Given the description of an element on the screen output the (x, y) to click on. 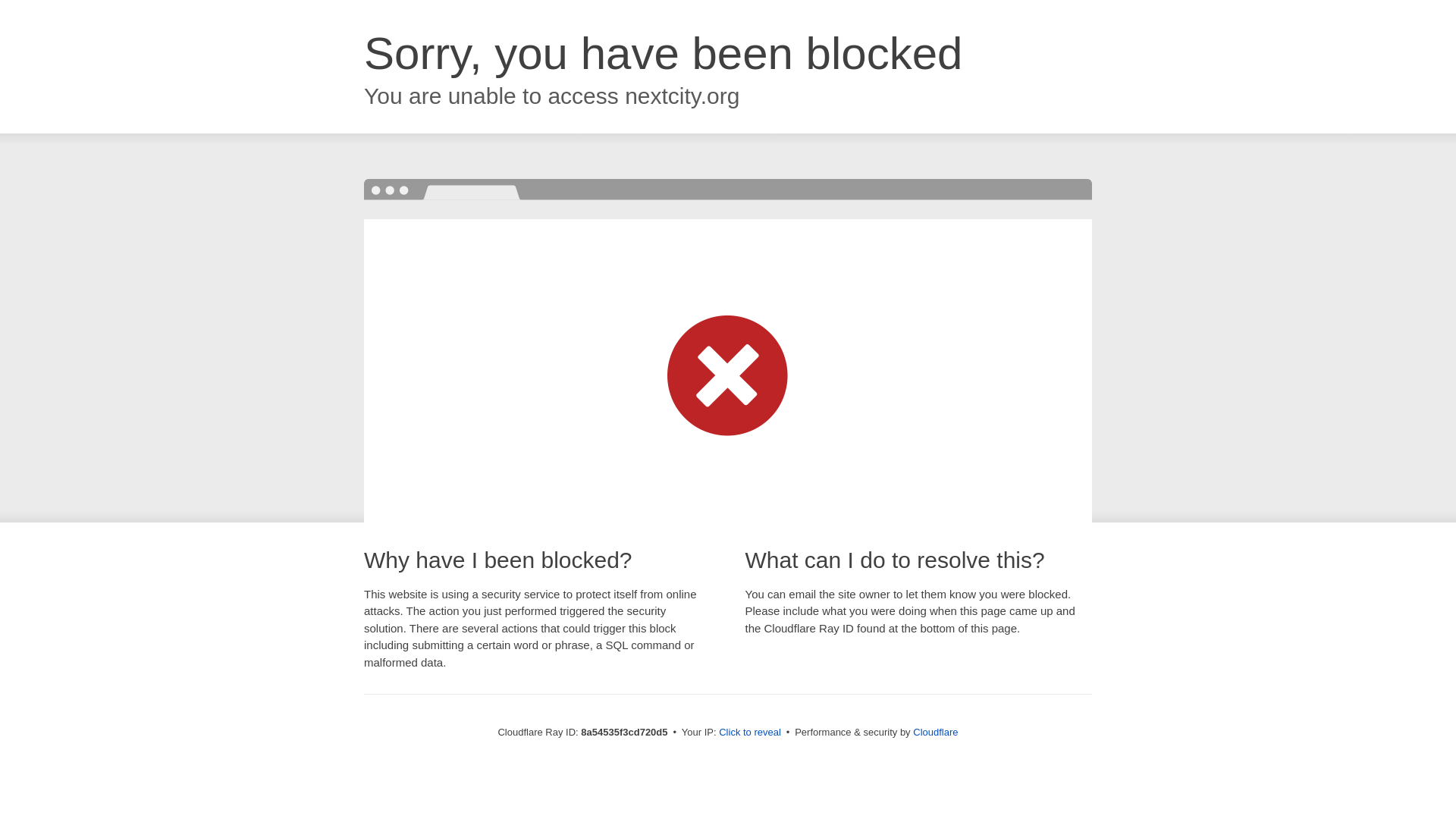
Click to reveal (749, 732)
Cloudflare (935, 731)
